Given the description of an element on the screen output the (x, y) to click on. 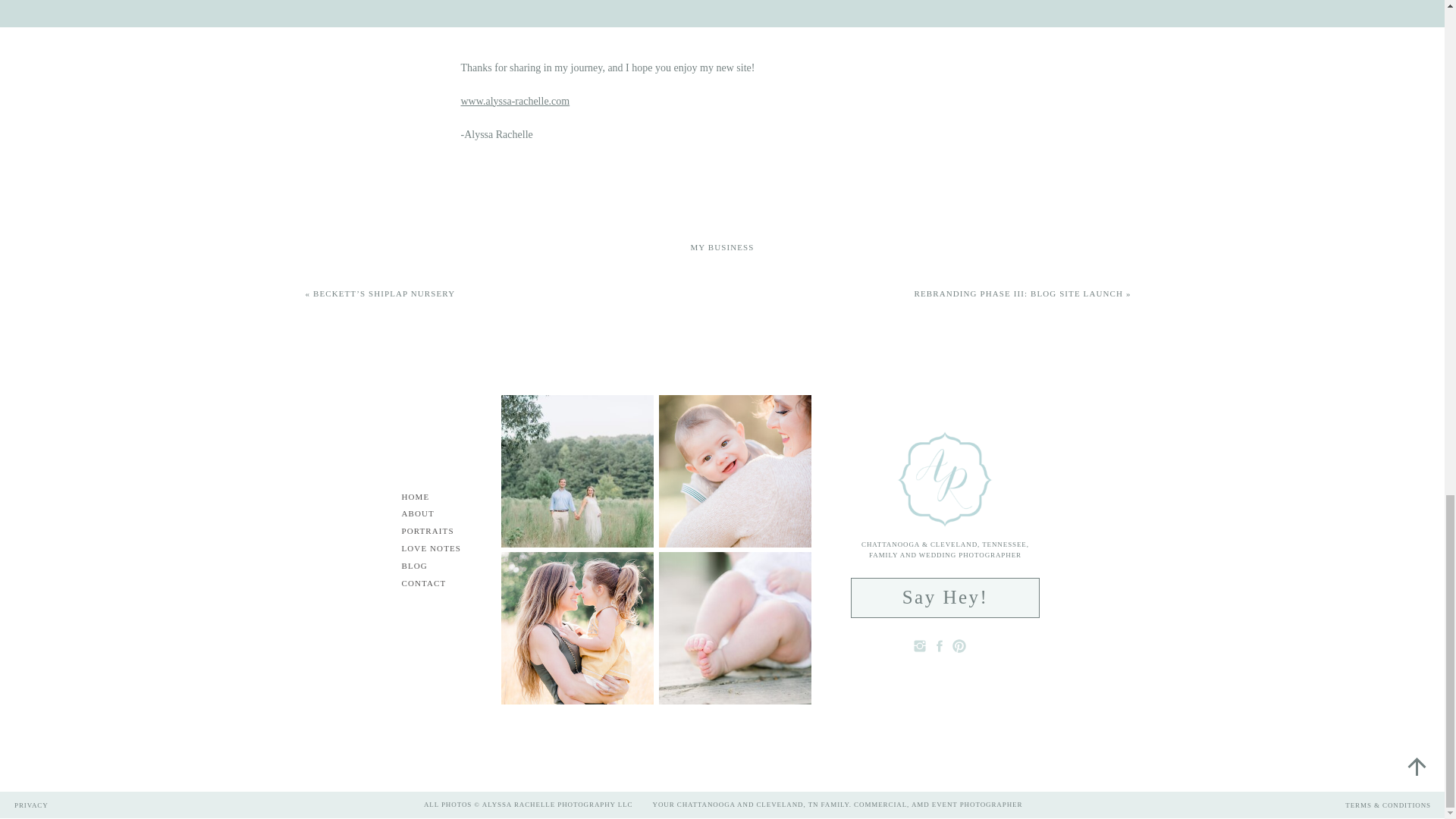
PORTRAITS (436, 531)
BLOG (426, 566)
HOME (425, 497)
LOVE NOTES (440, 548)
MY BUSINESS (722, 246)
smile emoticon (515, 100)
ABOUT (429, 514)
www.alyssa-rachelle.com (515, 100)
CONTACT (431, 583)
smile emoticon (765, 66)
REBRANDING PHASE III: BLOG SITE LAUNCH (1019, 293)
